Given the description of an element on the screen output the (x, y) to click on. 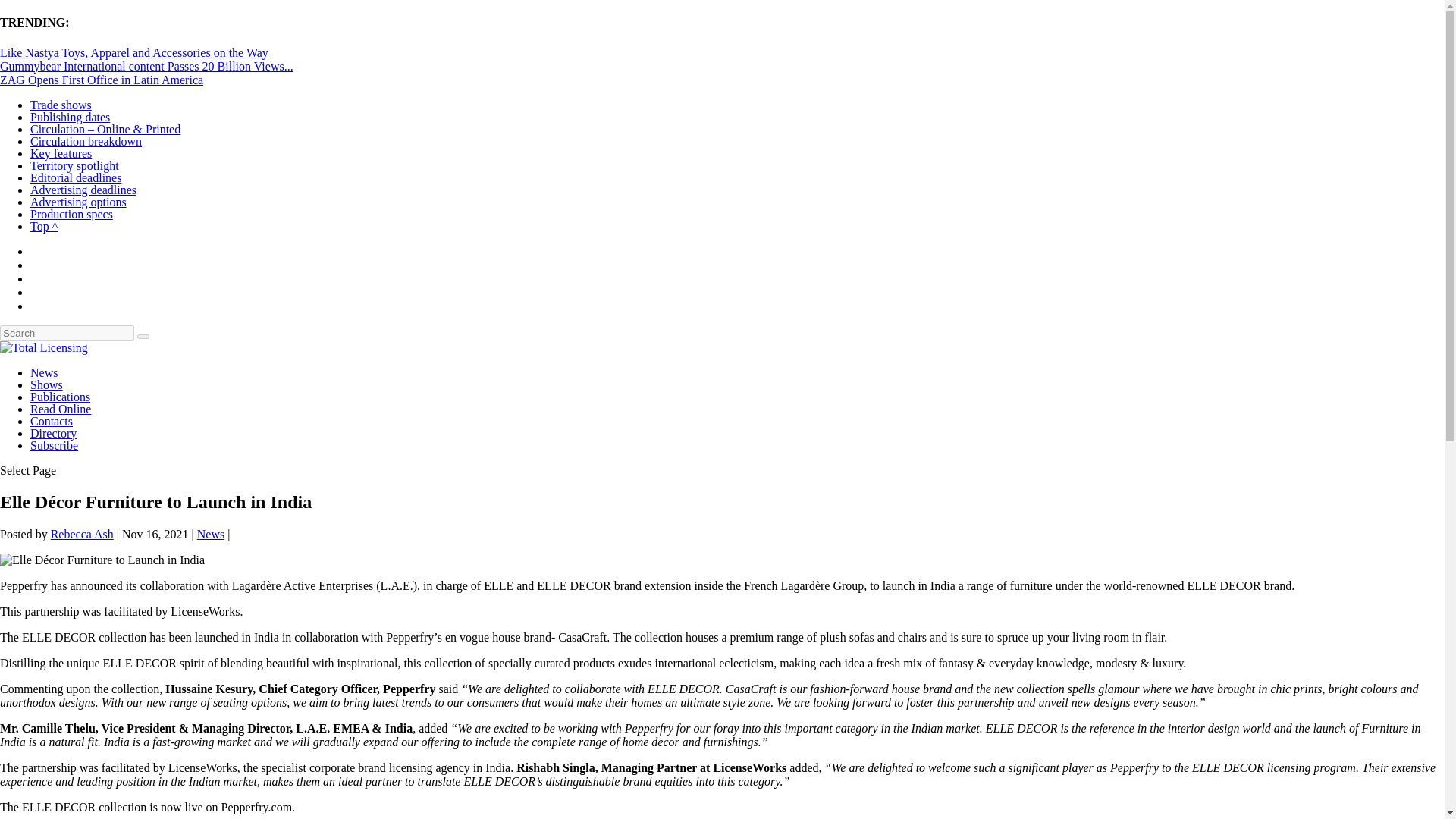
Publications (60, 396)
Circulation breakdown (85, 141)
Like Nastya Toys, Apparel and Accessories on the Way (133, 51)
Publishing dates (70, 116)
Gummybear International content Passes 20 Billion Views... (147, 65)
Editorial deadlines (75, 177)
ZAG Opens First Office in Latin America (101, 79)
Search for: (66, 333)
Territory spotlight (74, 164)
Advertising deadlines (83, 189)
Key features (60, 153)
Trade shows (60, 104)
Production specs (71, 214)
Advertising options (78, 201)
News (44, 372)
